Given the description of an element on the screen output the (x, y) to click on. 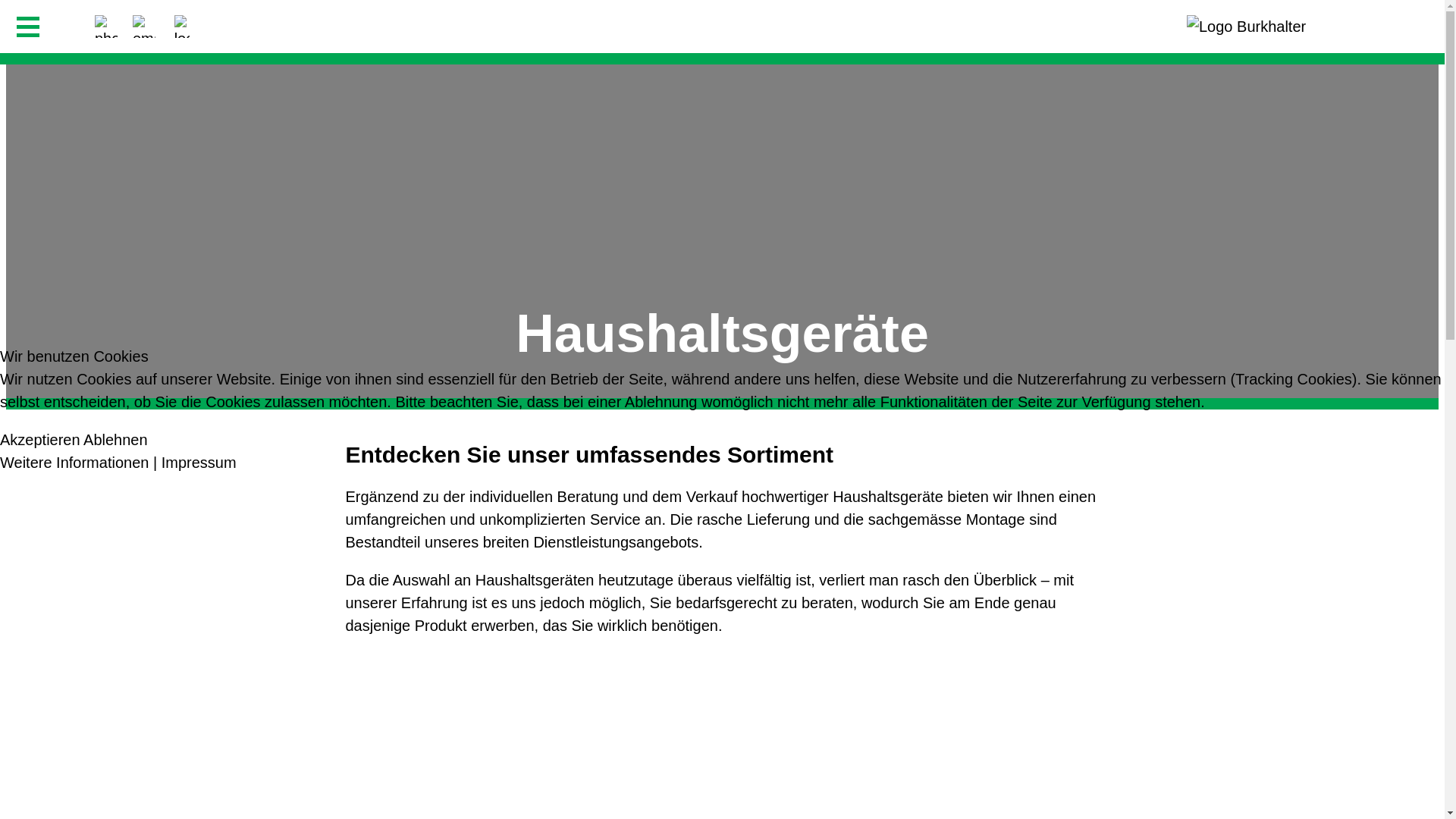
Akzeptieren Element type: text (40, 439)
Weitere Informationen Element type: text (74, 462)
Impressum Element type: text (198, 462)
Ablehnen Element type: text (115, 439)
